Given the description of an element on the screen output the (x, y) to click on. 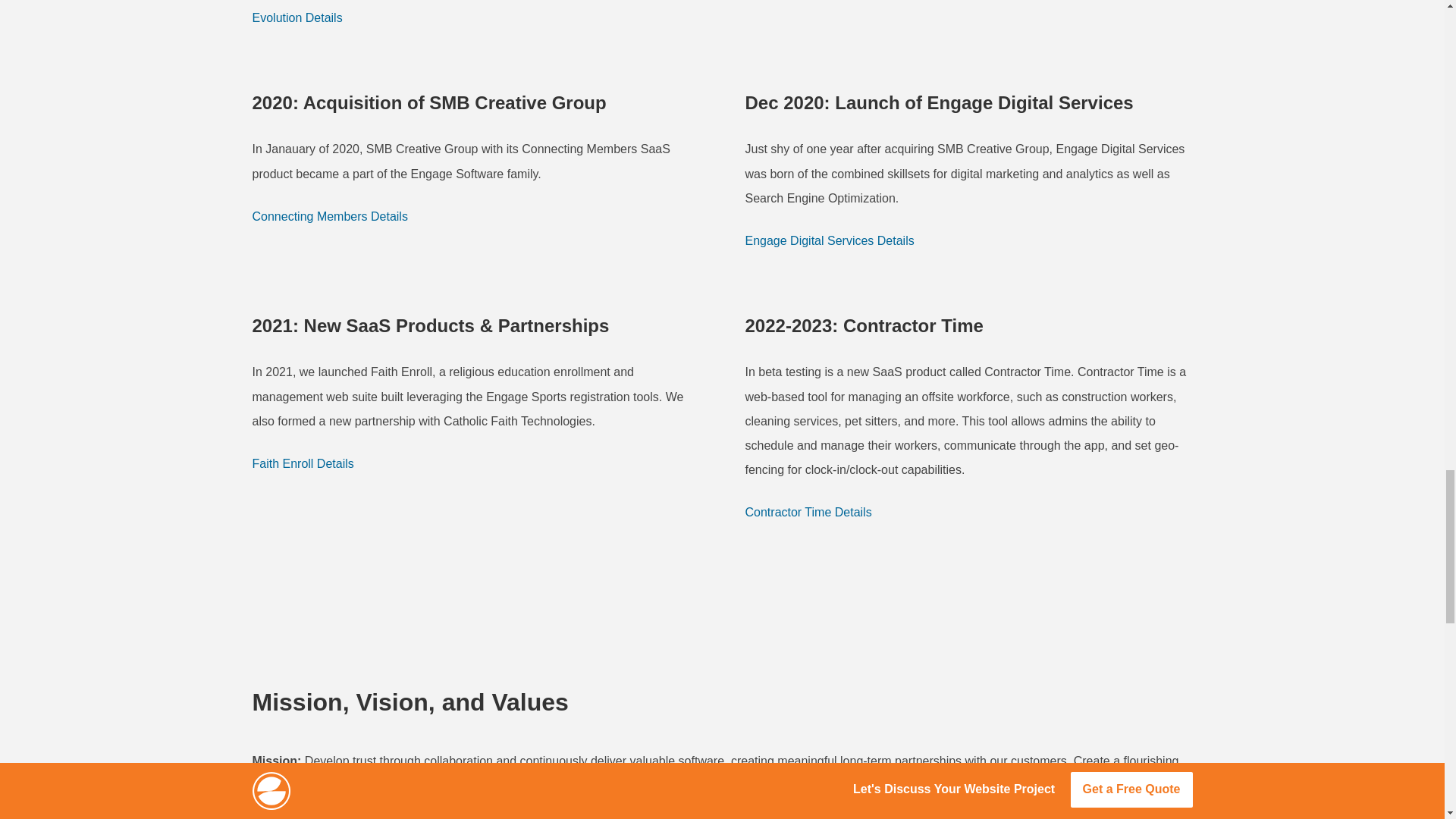
Connecting Members Details (329, 216)
Engage Digital Services Details (829, 241)
Faith Enroll Details (302, 463)
Engage AMS Details (800, 2)
Evolution Details (296, 17)
Contractor Time Details (807, 512)
